Given the description of an element on the screen output the (x, y) to click on. 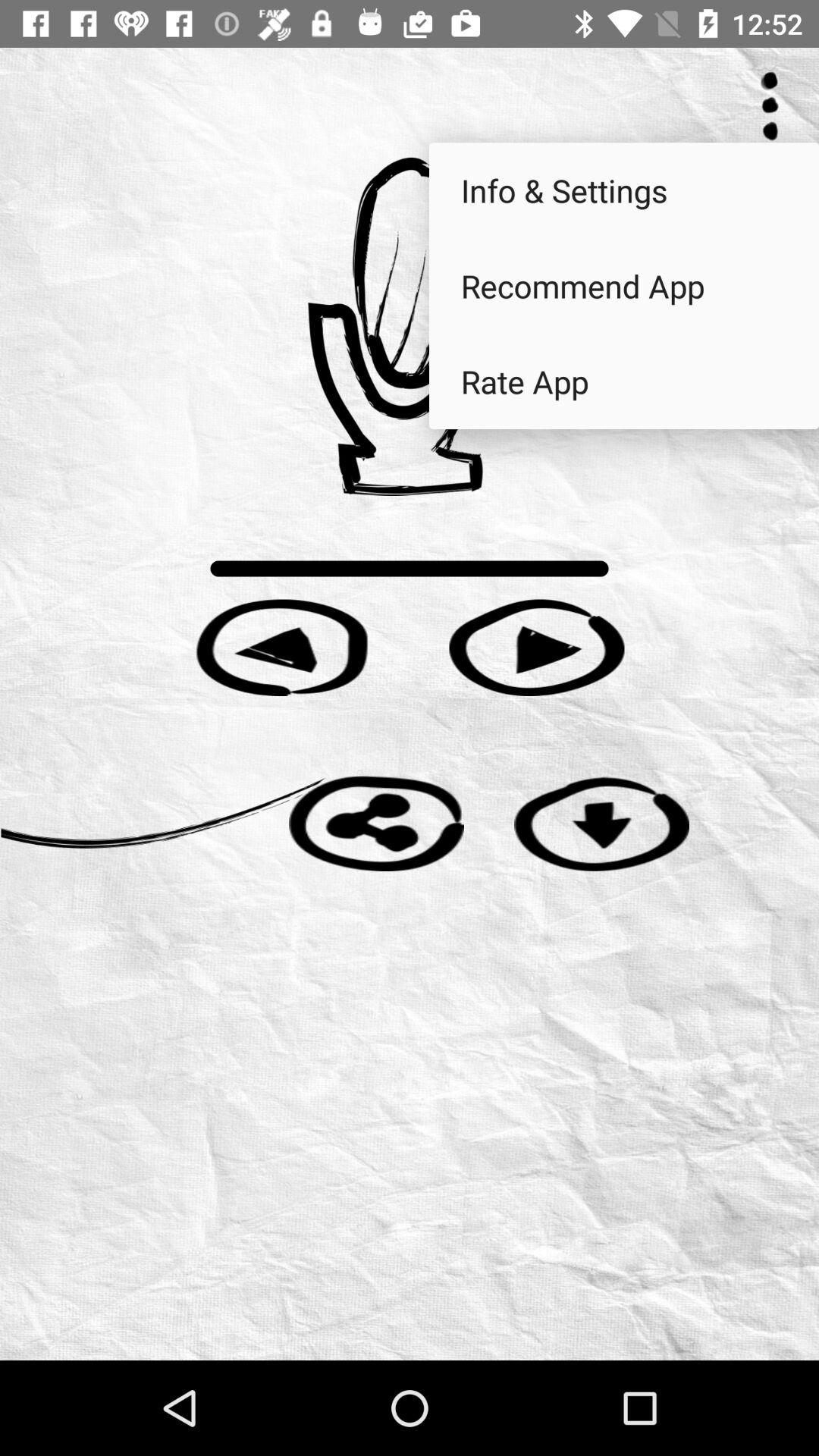
cartoon microphone (409, 326)
